Given the description of an element on the screen output the (x, y) to click on. 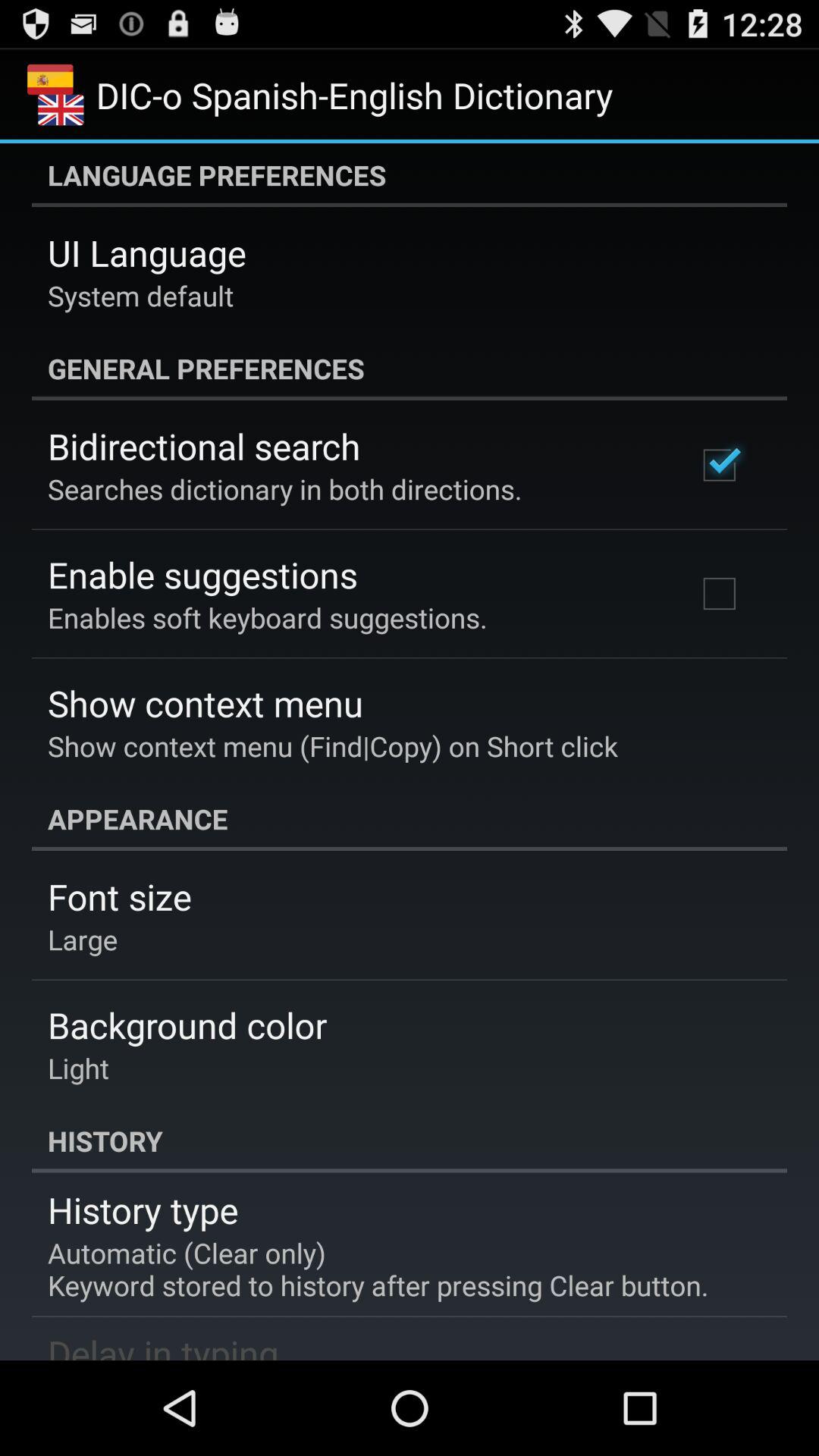
choose app above the background color (82, 939)
